Given the description of an element on the screen output the (x, y) to click on. 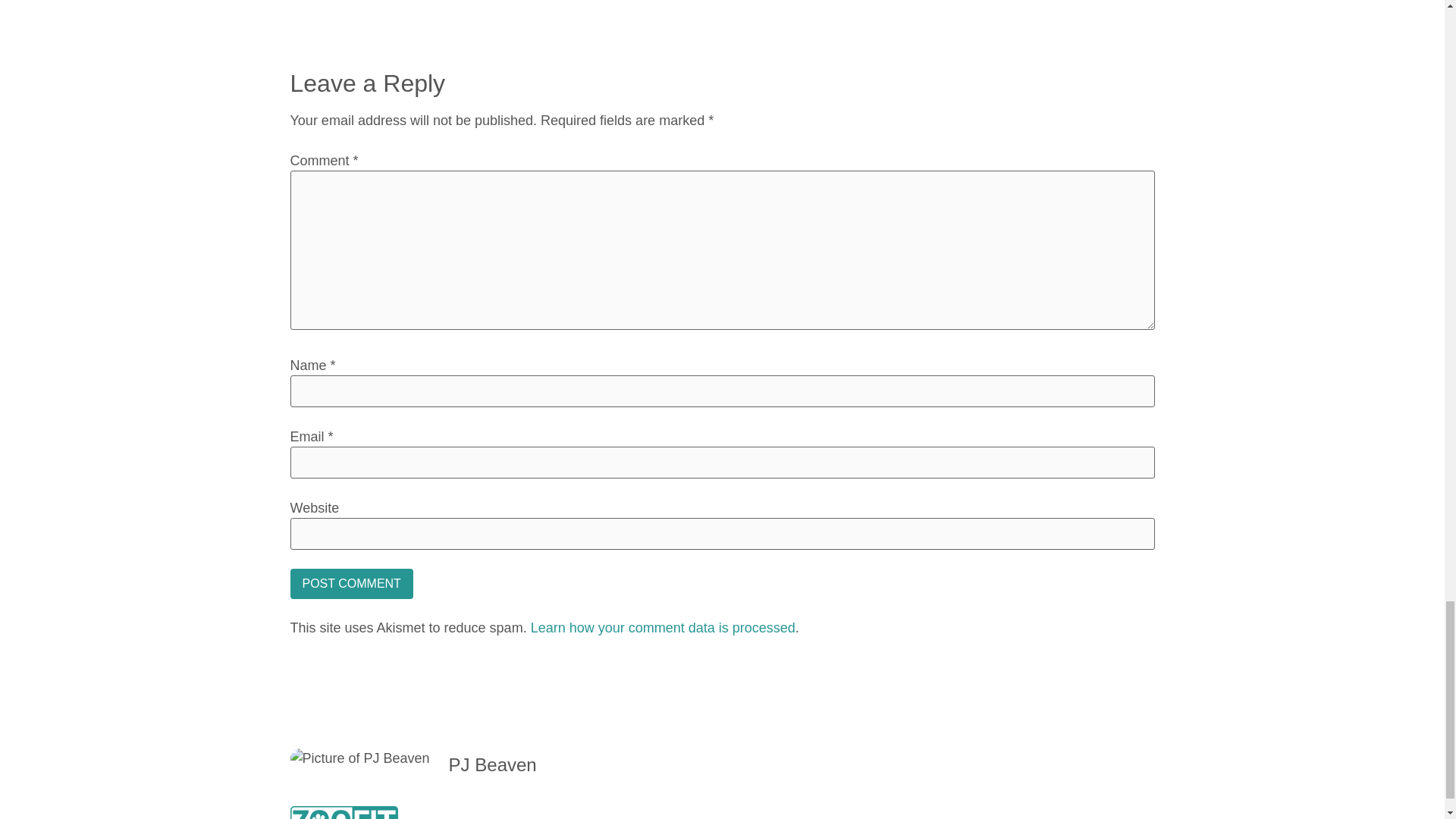
Post Comment (350, 583)
Post Comment (350, 583)
Learn how your comment data is processed (662, 627)
